Given the description of an element on the screen output the (x, y) to click on. 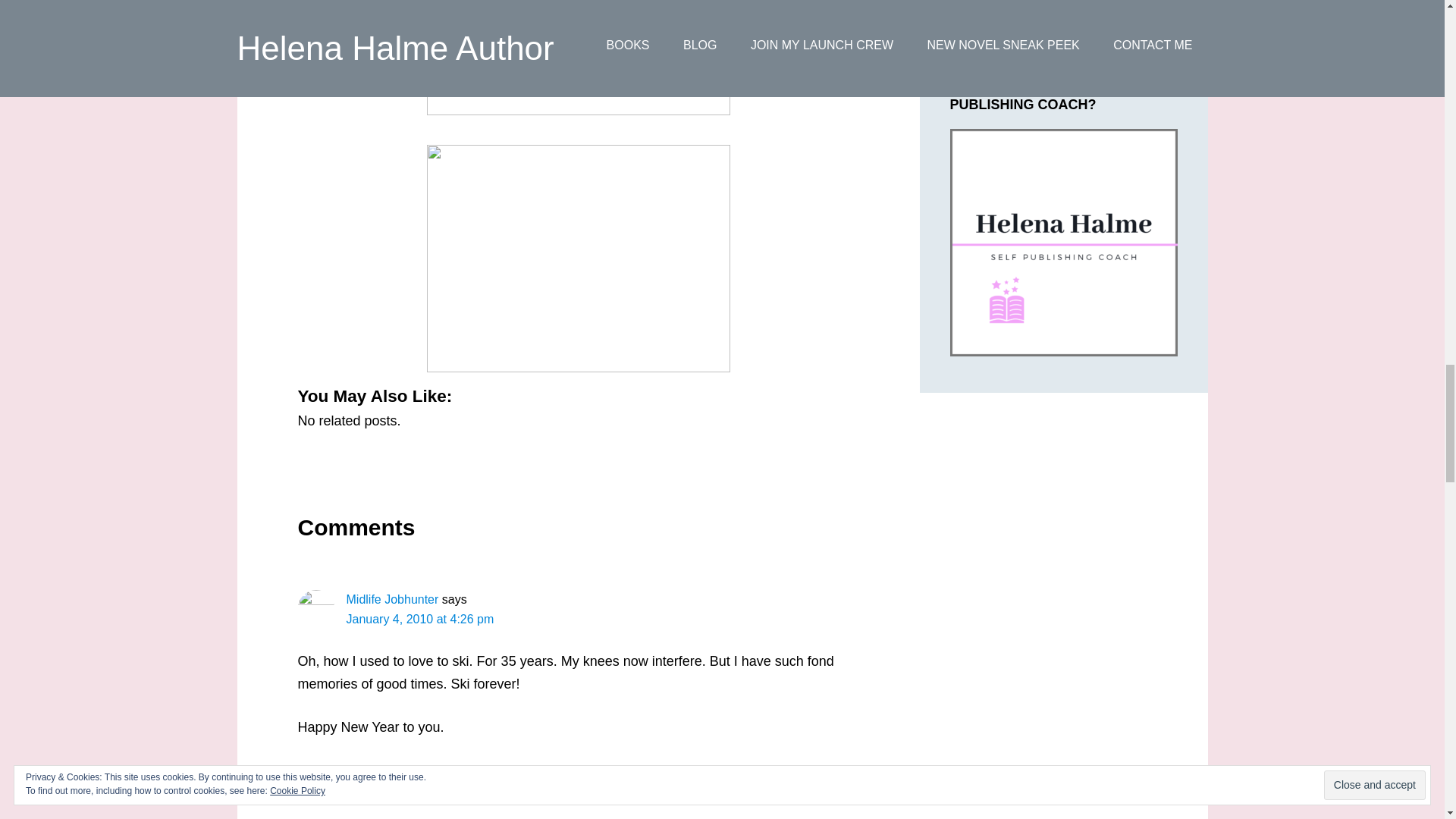
Reply (314, 770)
January 4, 2010 at 4:26 pm (419, 618)
Midlife Jobhunter (392, 599)
Free Exclusive Bonus Chapter (1062, 6)
